Given the description of an element on the screen output the (x, y) to click on. 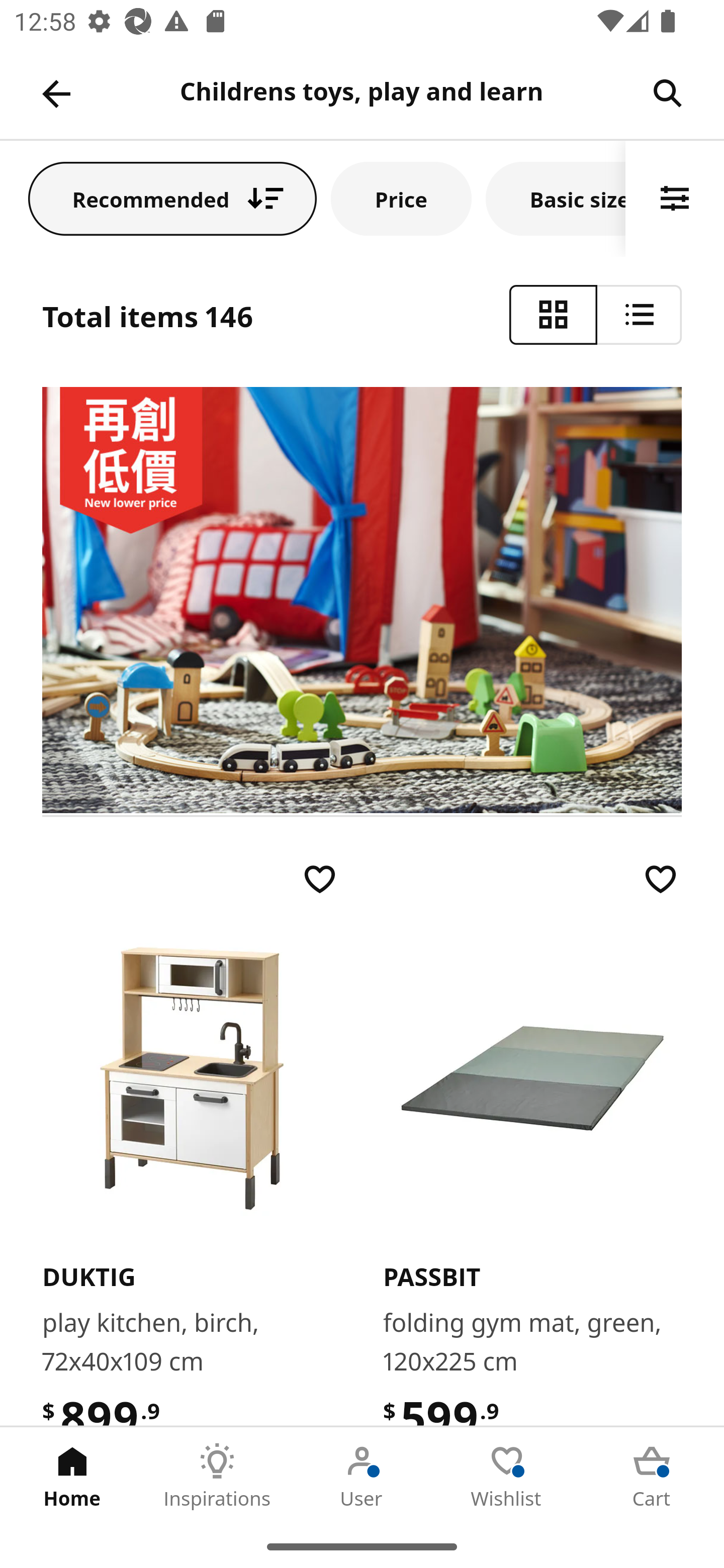
Recommended (172, 198)
Price (400, 198)
Basic sizes (555, 198)
Home
Tab 1 of 5 (72, 1476)
Inspirations
Tab 2 of 5 (216, 1476)
User
Tab 3 of 5 (361, 1476)
Wishlist
Tab 4 of 5 (506, 1476)
Cart
Tab 5 of 5 (651, 1476)
